Given the description of an element on the screen output the (x, y) to click on. 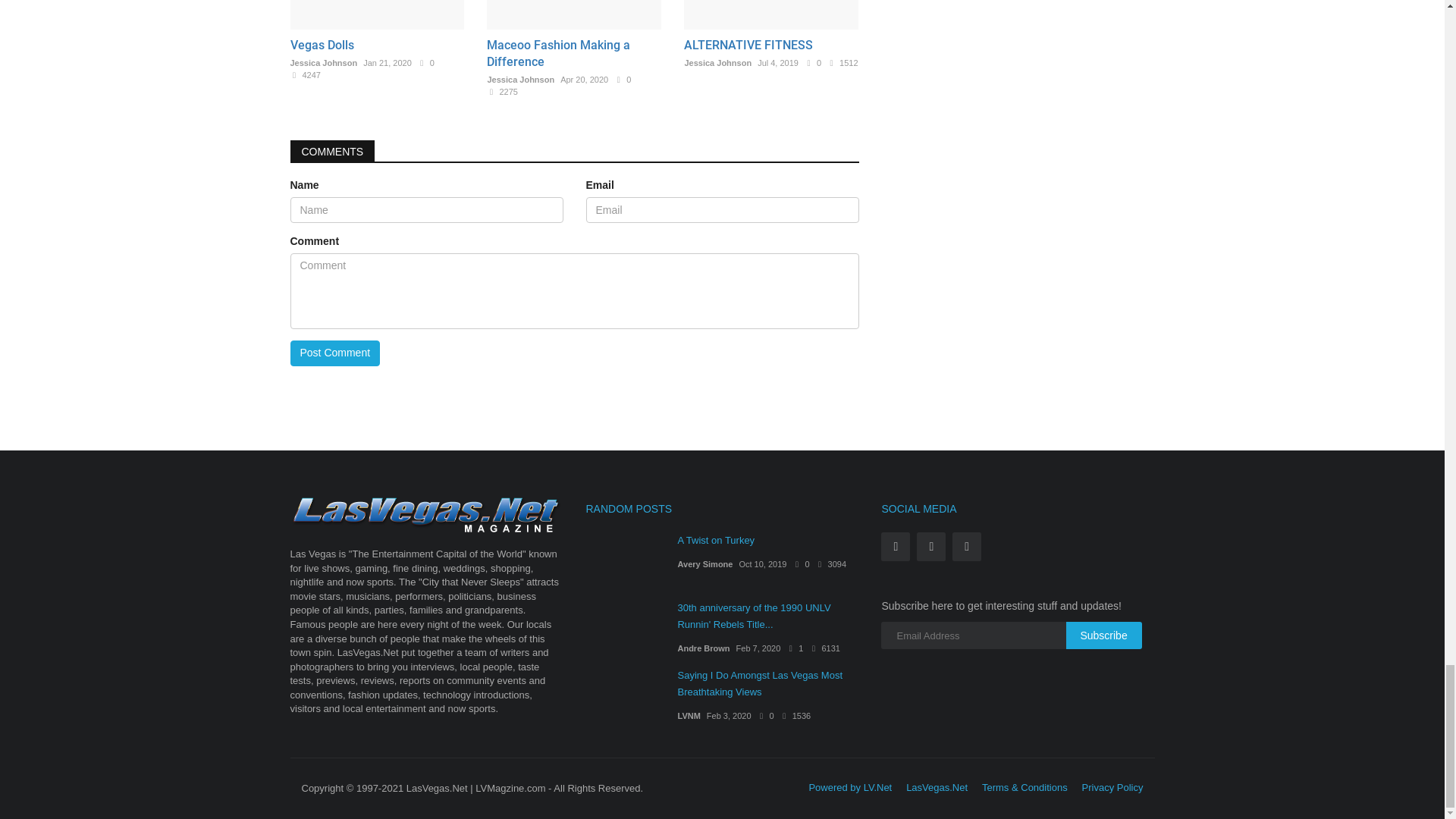
Subscribe (1103, 635)
